Given the description of an element on the screen output the (x, y) to click on. 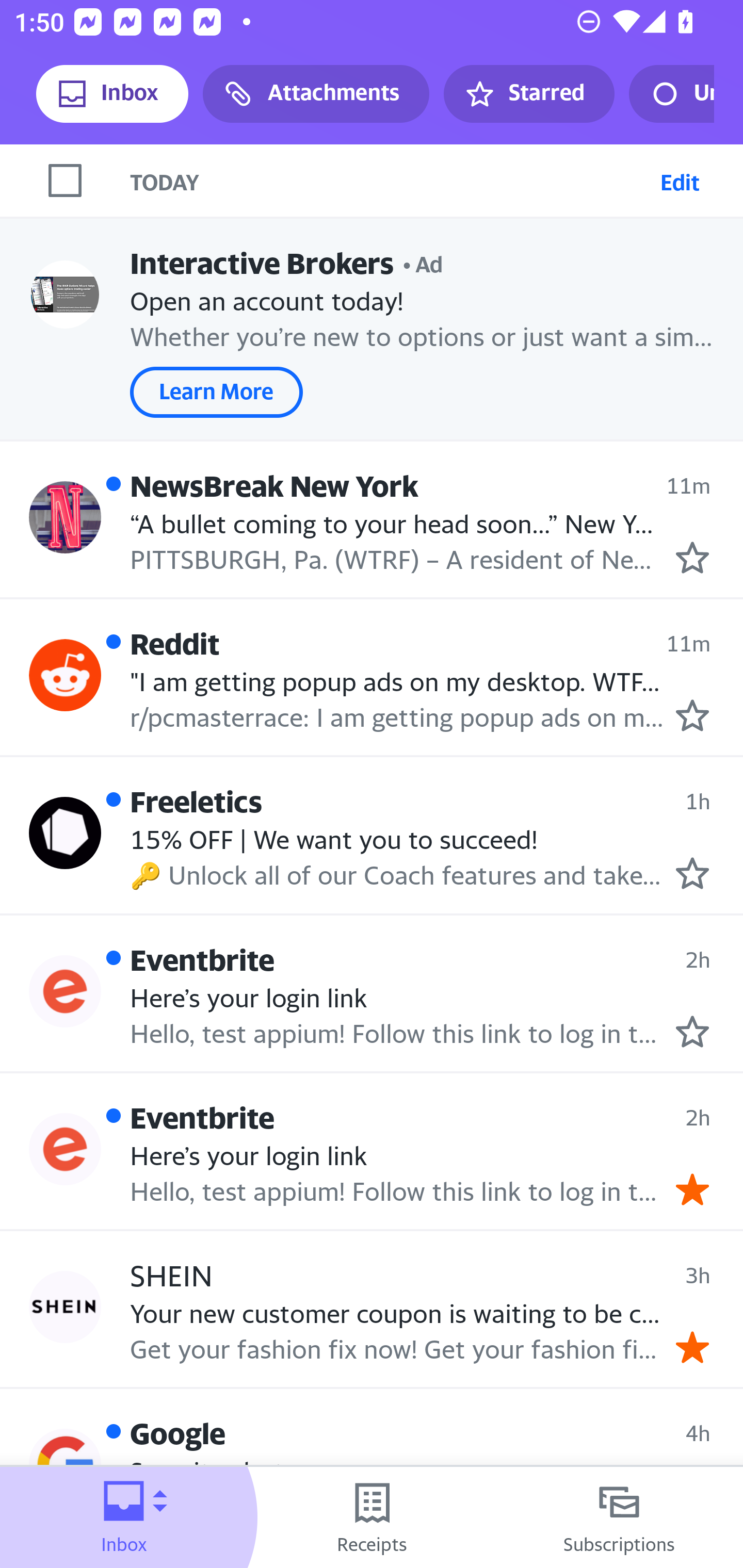
Attachments (315, 93)
Starred (528, 93)
TODAY (391, 180)
Edit Select emails (679, 180)
Profile
NewsBreak New York (64, 517)
Mark as starred. (692, 557)
Profile
Reddit (64, 675)
Mark as starred. (692, 715)
Profile
Freeletics (64, 832)
Mark as starred. (692, 872)
Profile
Eventbrite (64, 990)
Mark as starred. (692, 1030)
Profile
Eventbrite (64, 1149)
Remove star. (692, 1189)
Profile
SHEIN (64, 1307)
Remove star. (692, 1347)
Inbox Folder picker (123, 1517)
Receipts (371, 1517)
Subscriptions (619, 1517)
